Given the description of an element on the screen output the (x, y) to click on. 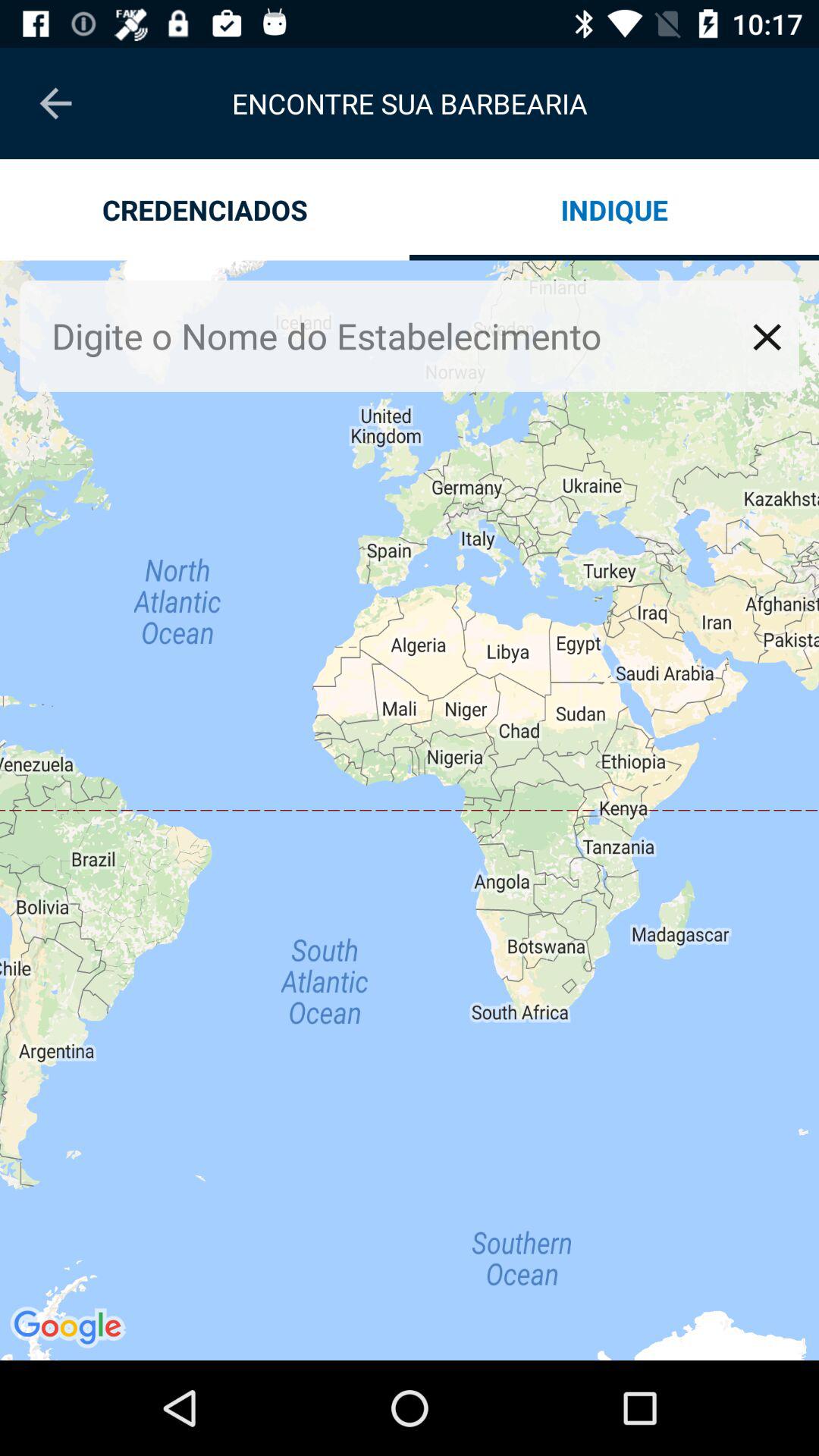
select the icon to the right of the credenciados icon (614, 209)
